Given the description of an element on the screen output the (x, y) to click on. 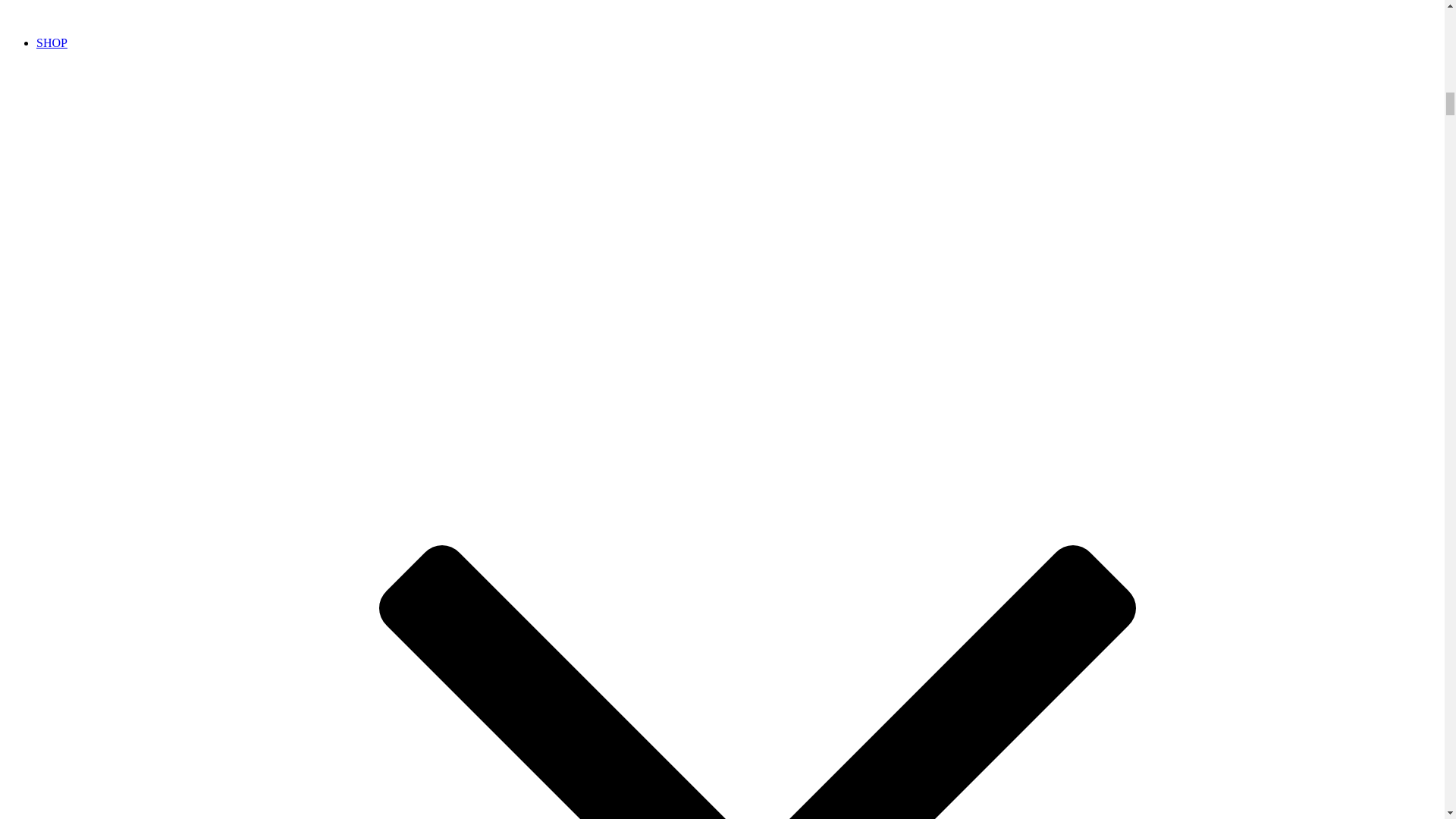
SHOP (51, 42)
